Given the description of an element on the screen output the (x, y) to click on. 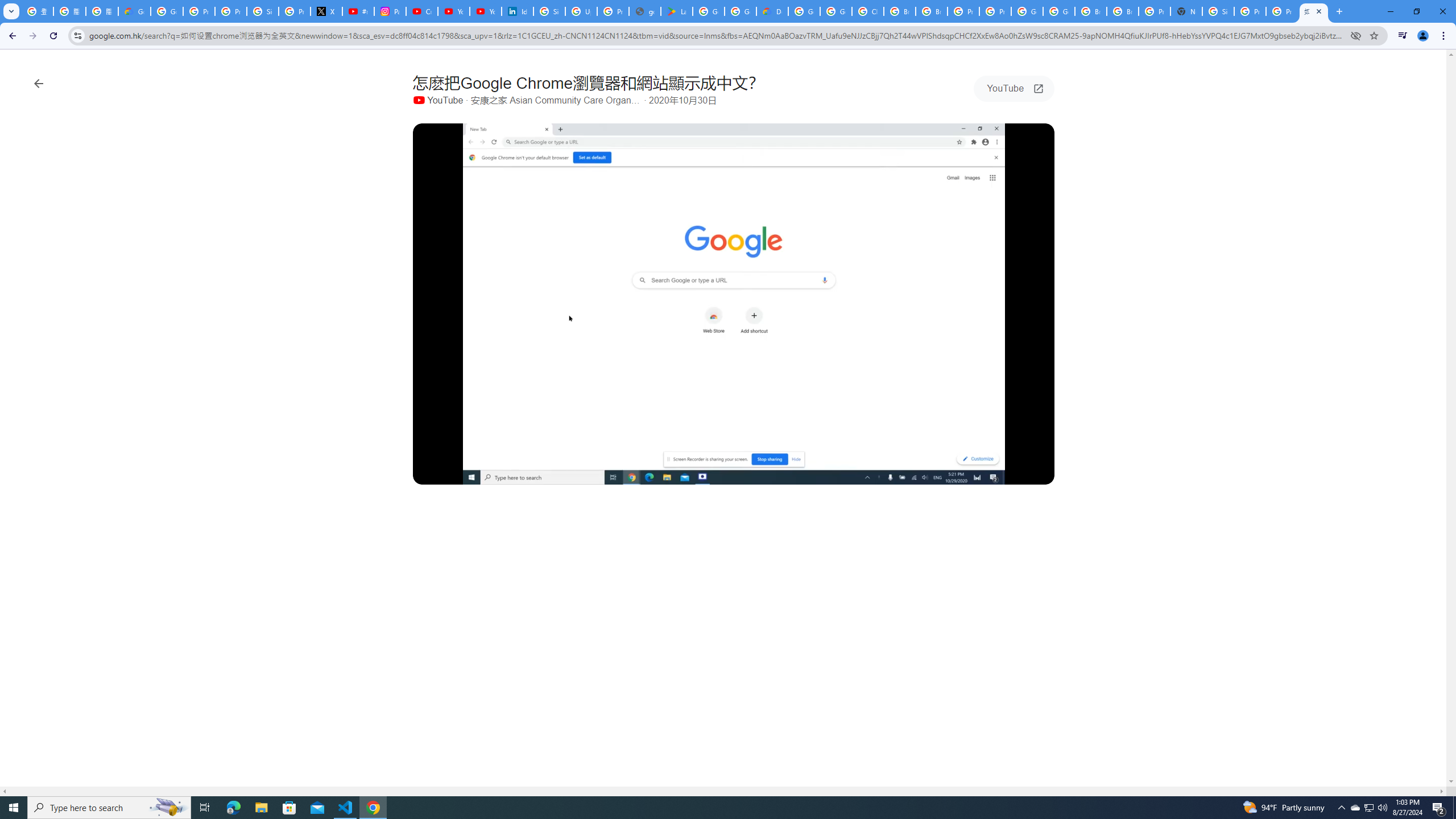
Google Cloud Platform (1027, 11)
#nbabasketballhighlights - YouTube (358, 11)
YouTube Culture & Trends - YouTube Top 10, 2021 (485, 11)
Mute (m) (456, 472)
Play (k) (432, 472)
